Given the description of an element on the screen output the (x, y) to click on. 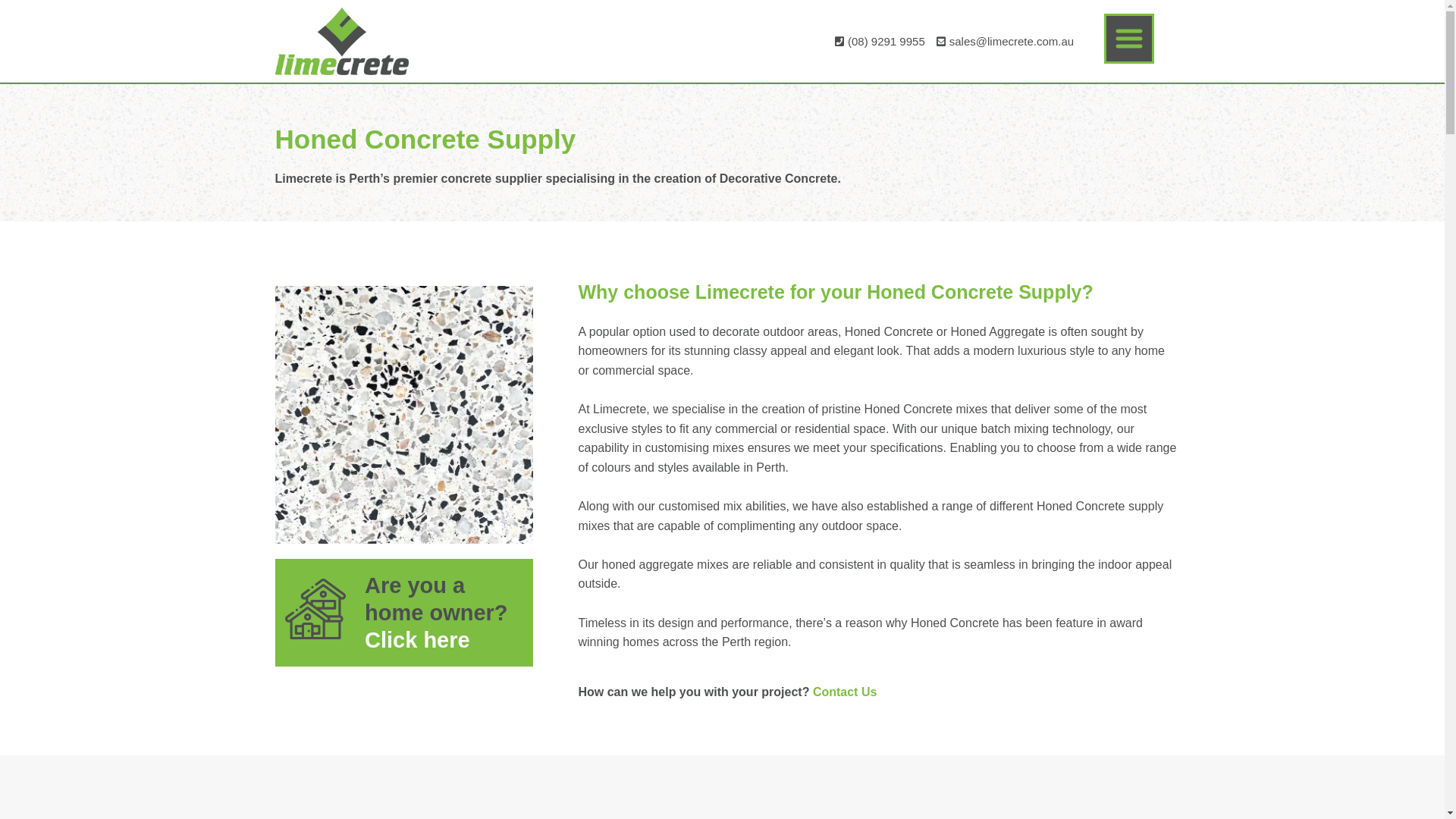
(08) 9291 9955 Element type: text (878, 41)
sales@limecrete.com.au Element type: text (1002, 41)
Are you a home owner? Click here Element type: text (436, 612)
Limecrete Element type: hover (340, 41)
How can we help you with your project? Contact Us Element type: text (726, 691)
